Given the description of an element on the screen output the (x, y) to click on. 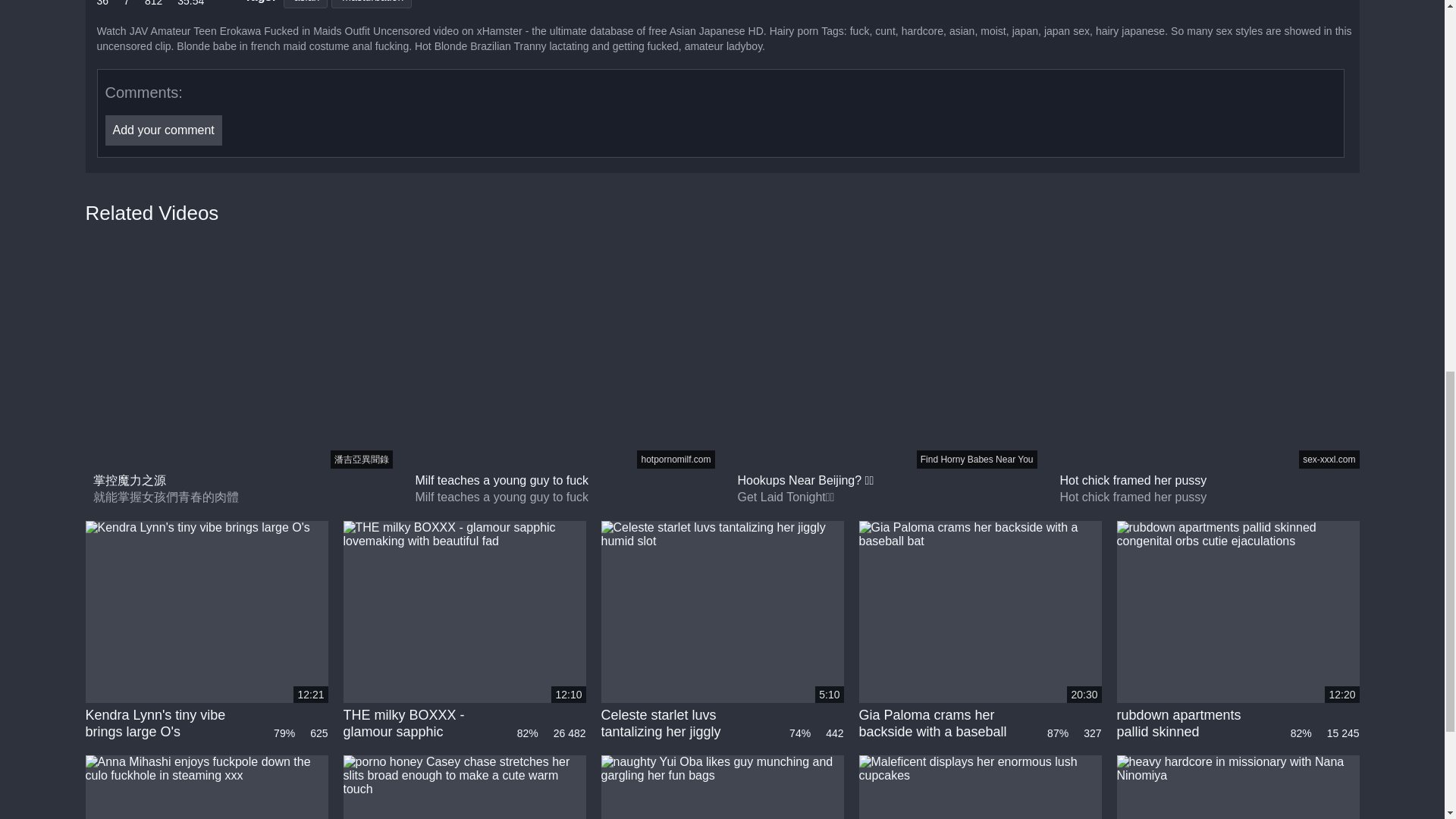
asian (305, 4)
I Like It! (103, 4)
masturbation (371, 4)
36 (103, 4)
